Given the description of an element on the screen output the (x, y) to click on. 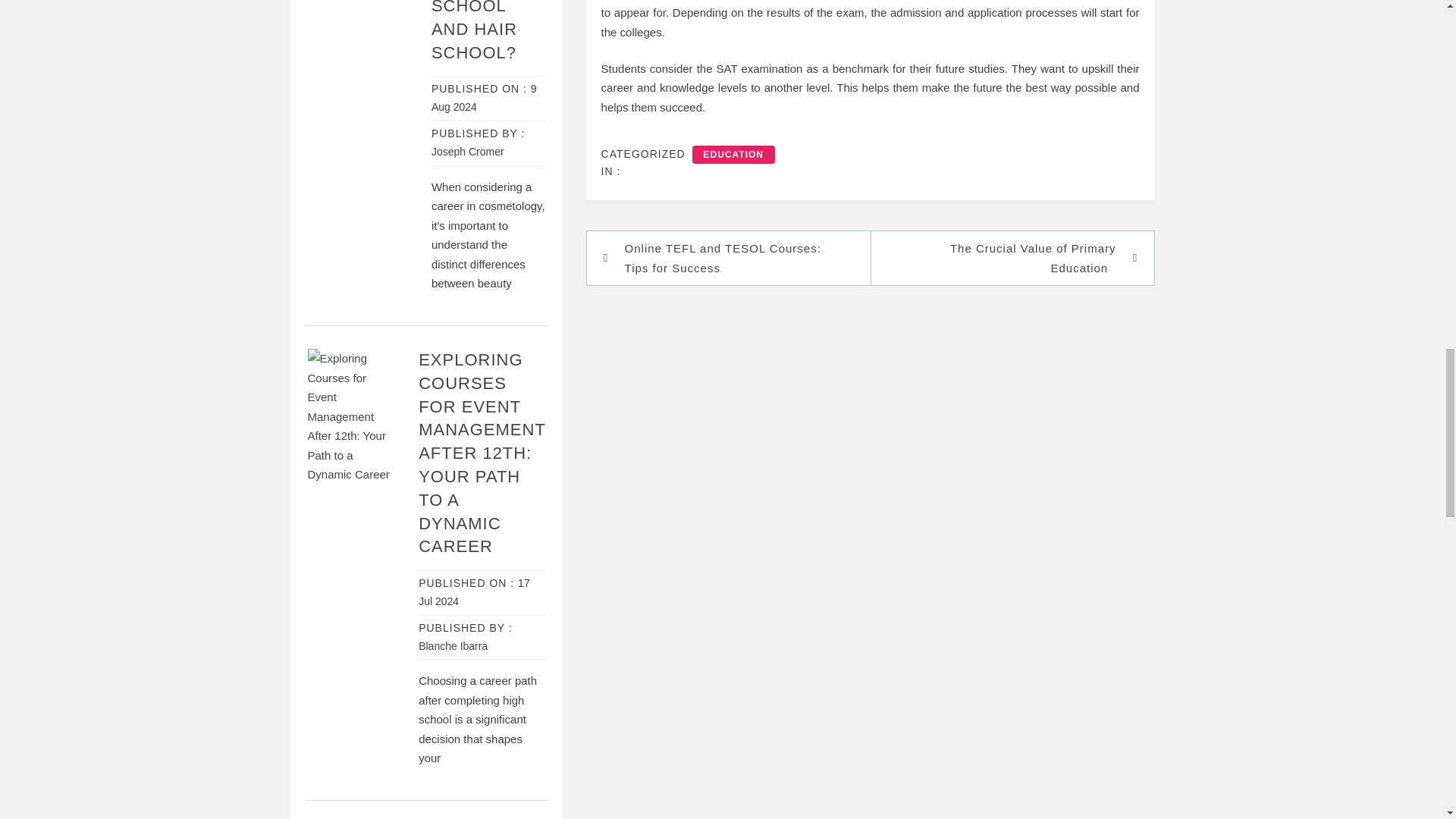
Online TEFL and TESOL Courses: Tips for Success (735, 258)
The Crucial Value of Primary Education   (1004, 258)
EDUCATION (733, 154)
Joseph Cromer (466, 151)
Blanche Ibarra (453, 645)
